Given the description of an element on the screen output the (x, y) to click on. 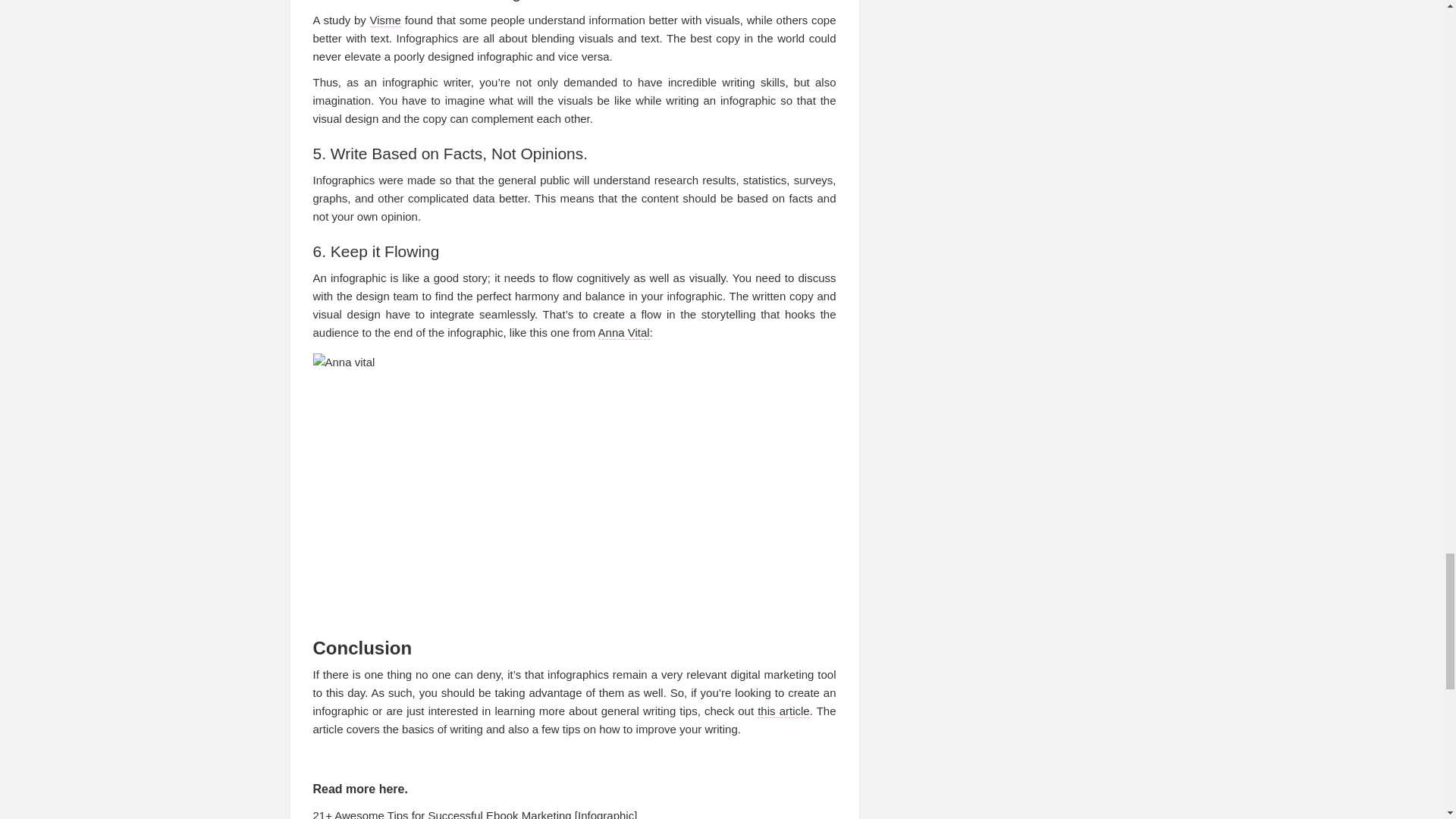
Anna Vital (623, 332)
Visme (385, 20)
this article (783, 711)
